Given the description of an element on the screen output the (x, y) to click on. 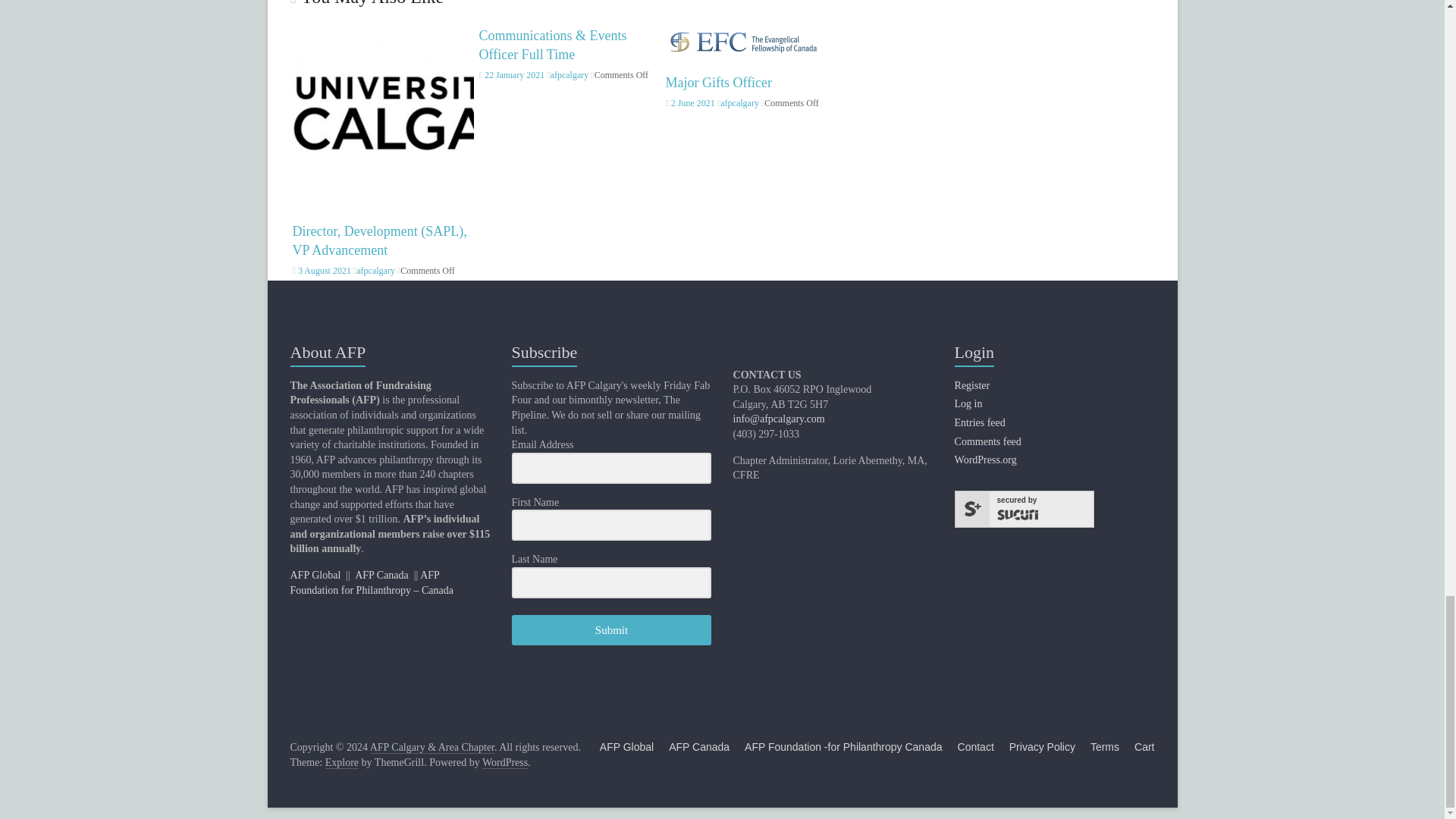
afpcalgary (739, 102)
9:20 am (321, 270)
Major Gifts Officer (718, 82)
2:26 pm (689, 102)
afpcalgary (569, 74)
Major Gifts Officer (740, 33)
5:57 pm (511, 74)
Explore (341, 762)
afpcalgary (375, 270)
